Given the description of an element on the screen output the (x, y) to click on. 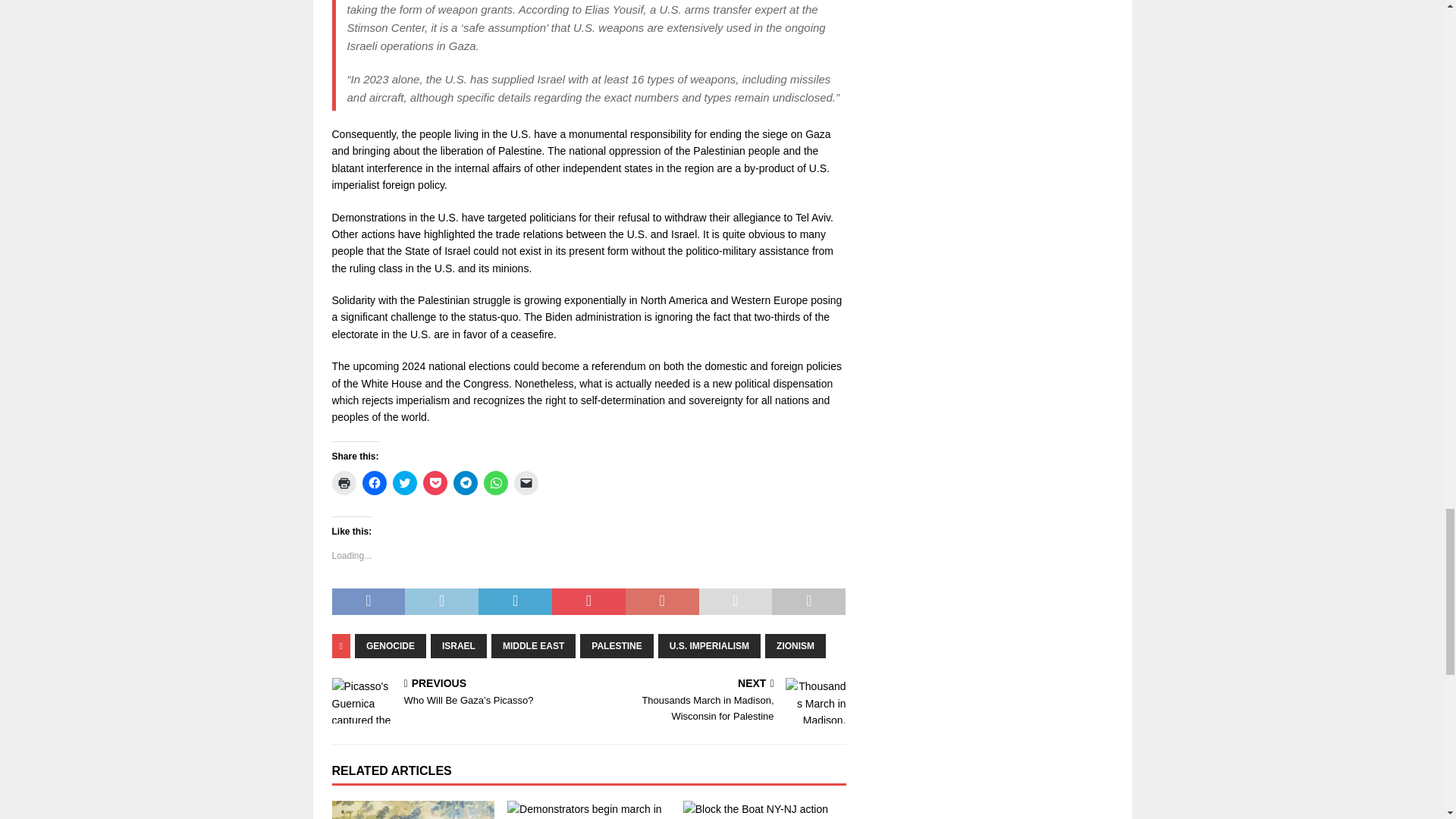
Click to share on Telegram (464, 482)
ISRAEL (458, 645)
Click to email a link to a friend (525, 482)
Click to share on Facebook (374, 482)
Click to share on Twitter (404, 482)
MIDDLE EAST (533, 645)
Click to print (343, 482)
PALESTINE (615, 645)
GENOCIDE (390, 645)
Click to share on Pocket (434, 482)
